Given the description of an element on the screen output the (x, y) to click on. 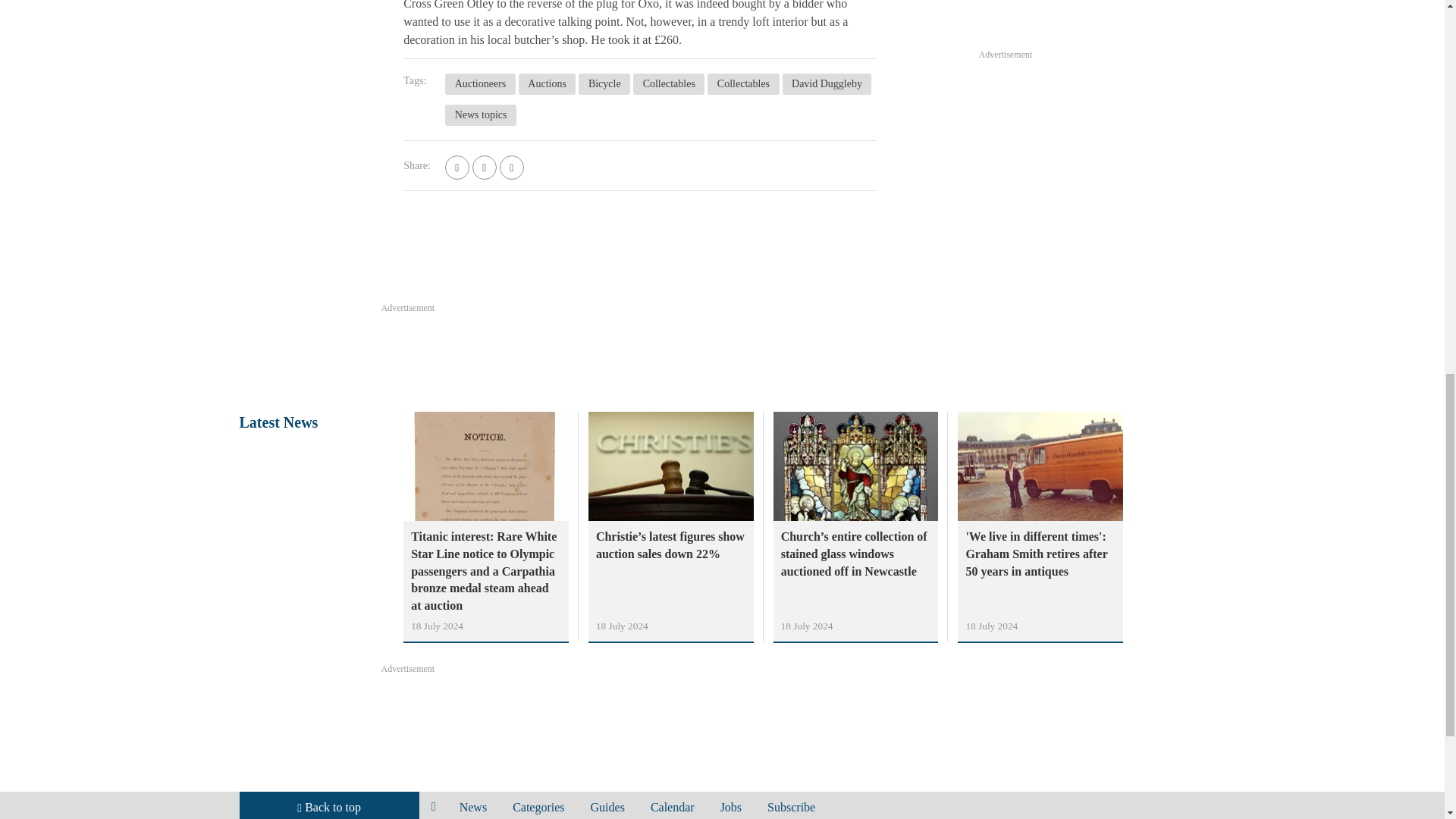
3rd party ad content (721, 355)
3rd party ad content (721, 717)
3rd party ad content (1091, 174)
home (433, 805)
3rd party ad content (1091, 21)
